Given the description of an element on the screen output the (x, y) to click on. 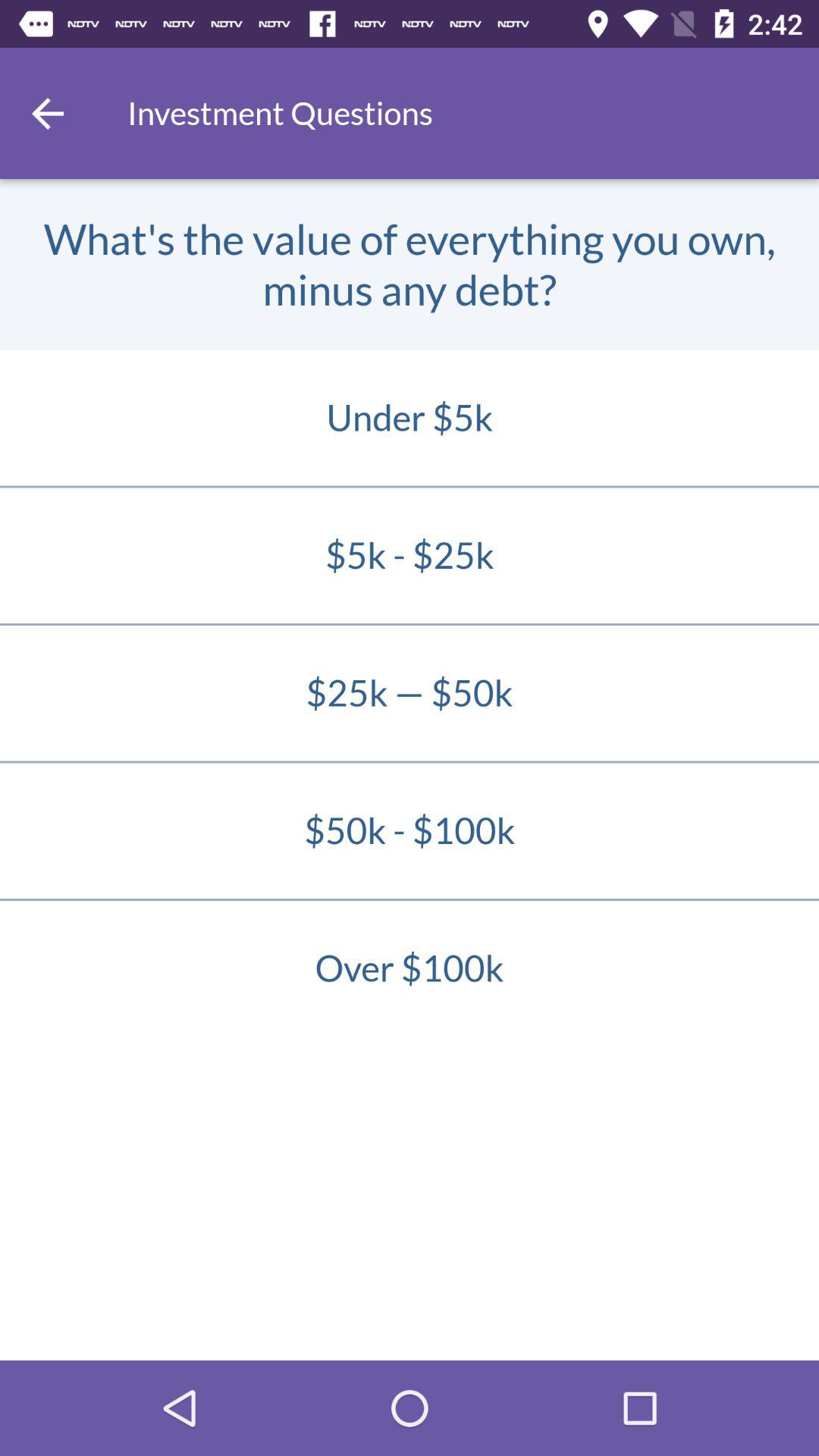
select the icon next to investment questions item (47, 113)
